Given the description of an element on the screen output the (x, y) to click on. 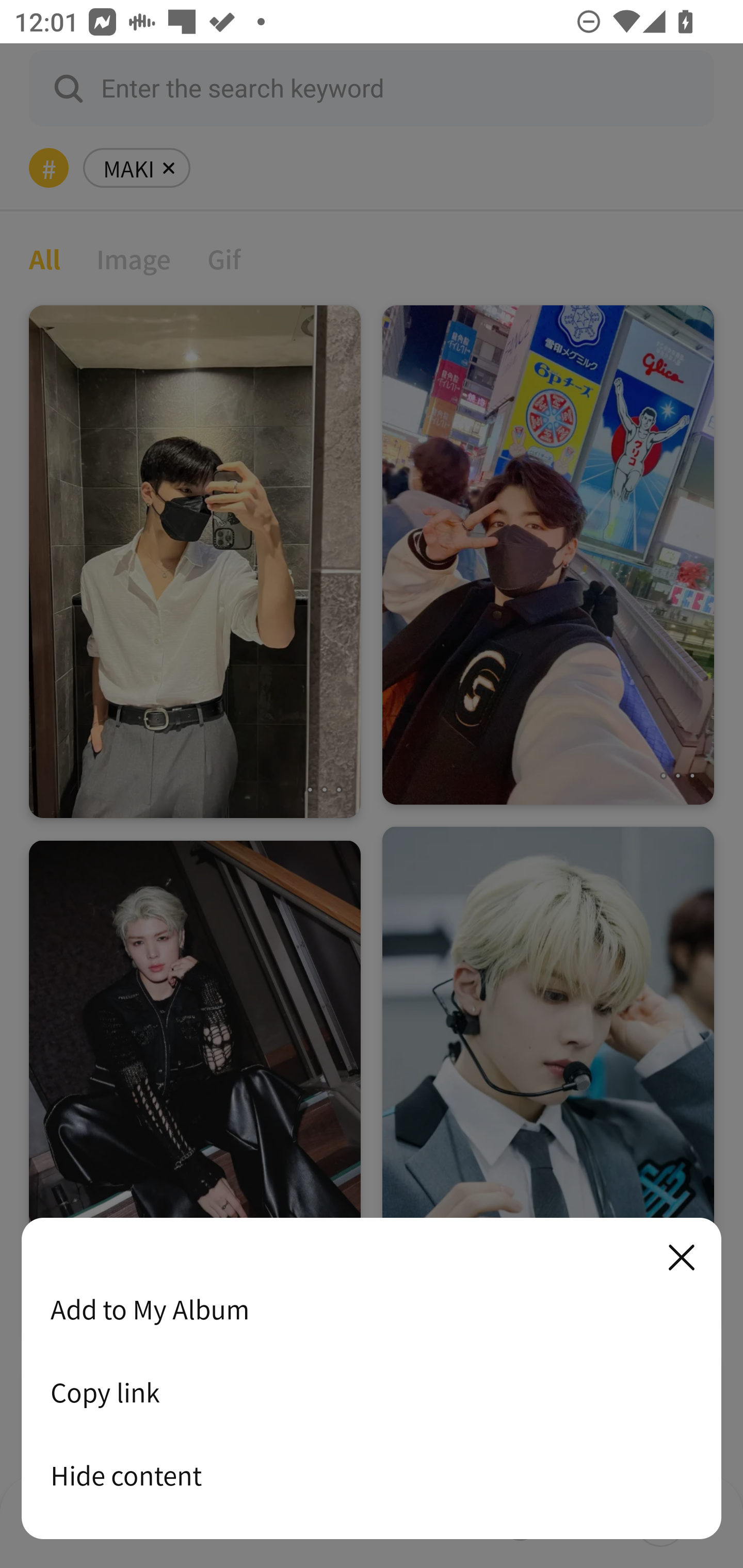
Add to My Album (371, 1308)
Copy link (371, 1391)
Hide content (371, 1474)
